Given the description of an element on the screen output the (x, y) to click on. 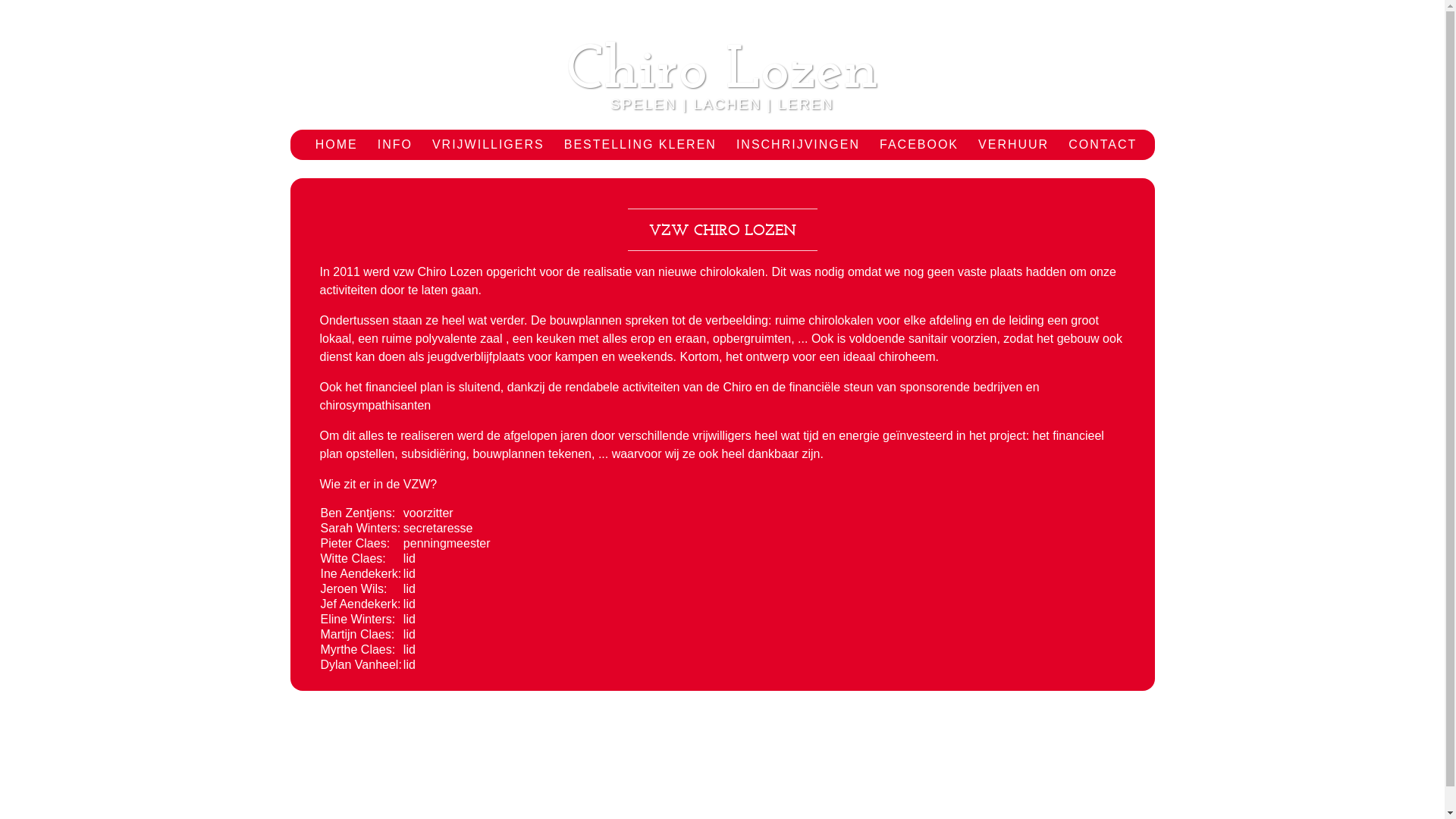
VRIJWILLIGERS Element type: text (488, 144)
VERHUUR Element type: text (1013, 144)
BESTELLING KLEREN Element type: text (640, 144)
INFO Element type: text (394, 144)
Like this content on Facebook. Element type: hover (722, 775)
CONTACT Element type: text (1102, 144)
INSCHRIJVINGEN Element type: text (798, 144)
HOME
(CURRENT) Element type: text (336, 144)
FACEBOOK Element type: text (918, 144)
